Given the description of an element on the screen output the (x, y) to click on. 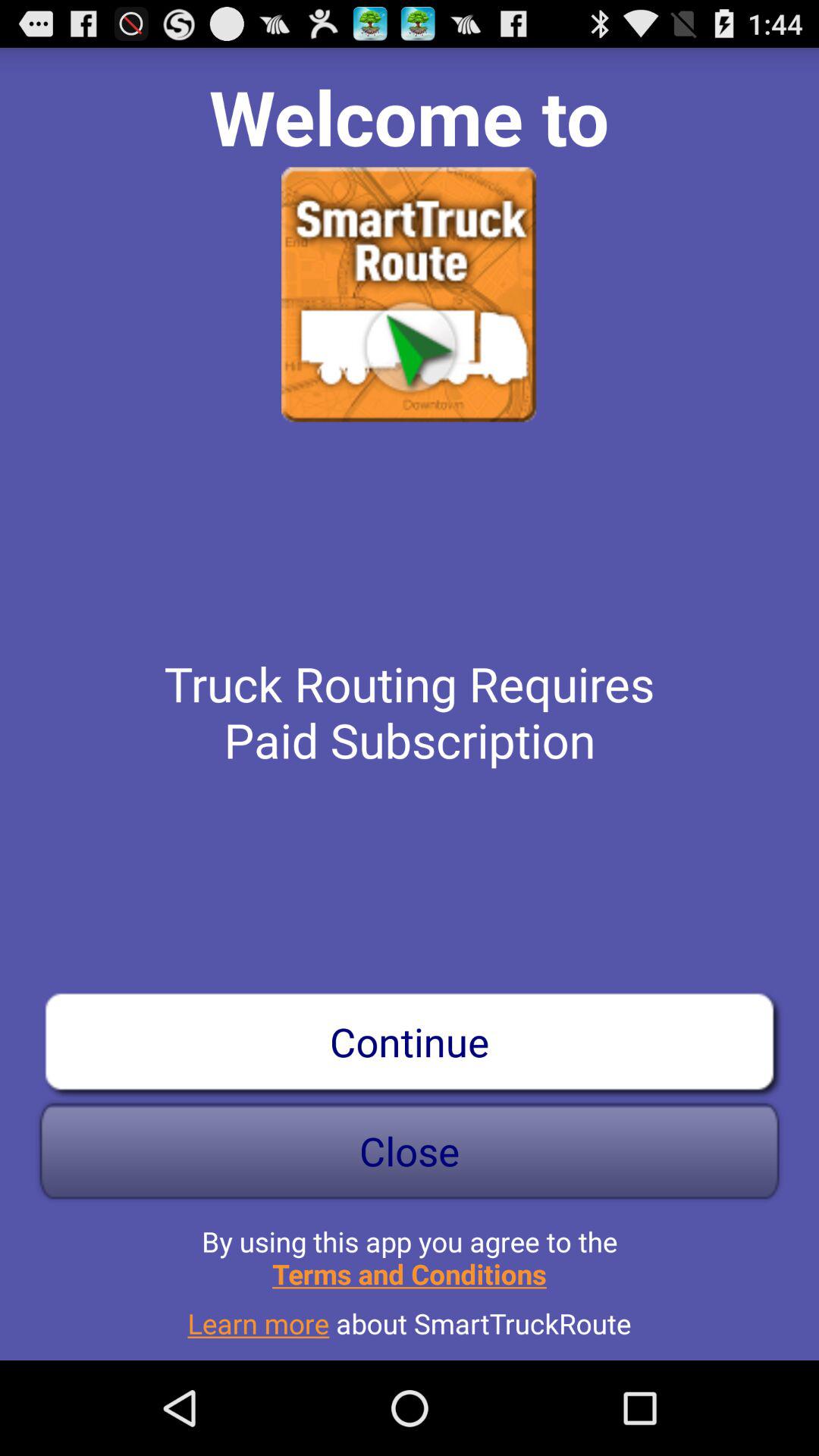
press app below the truck routing requires (409, 1041)
